Given the description of an element on the screen output the (x, y) to click on. 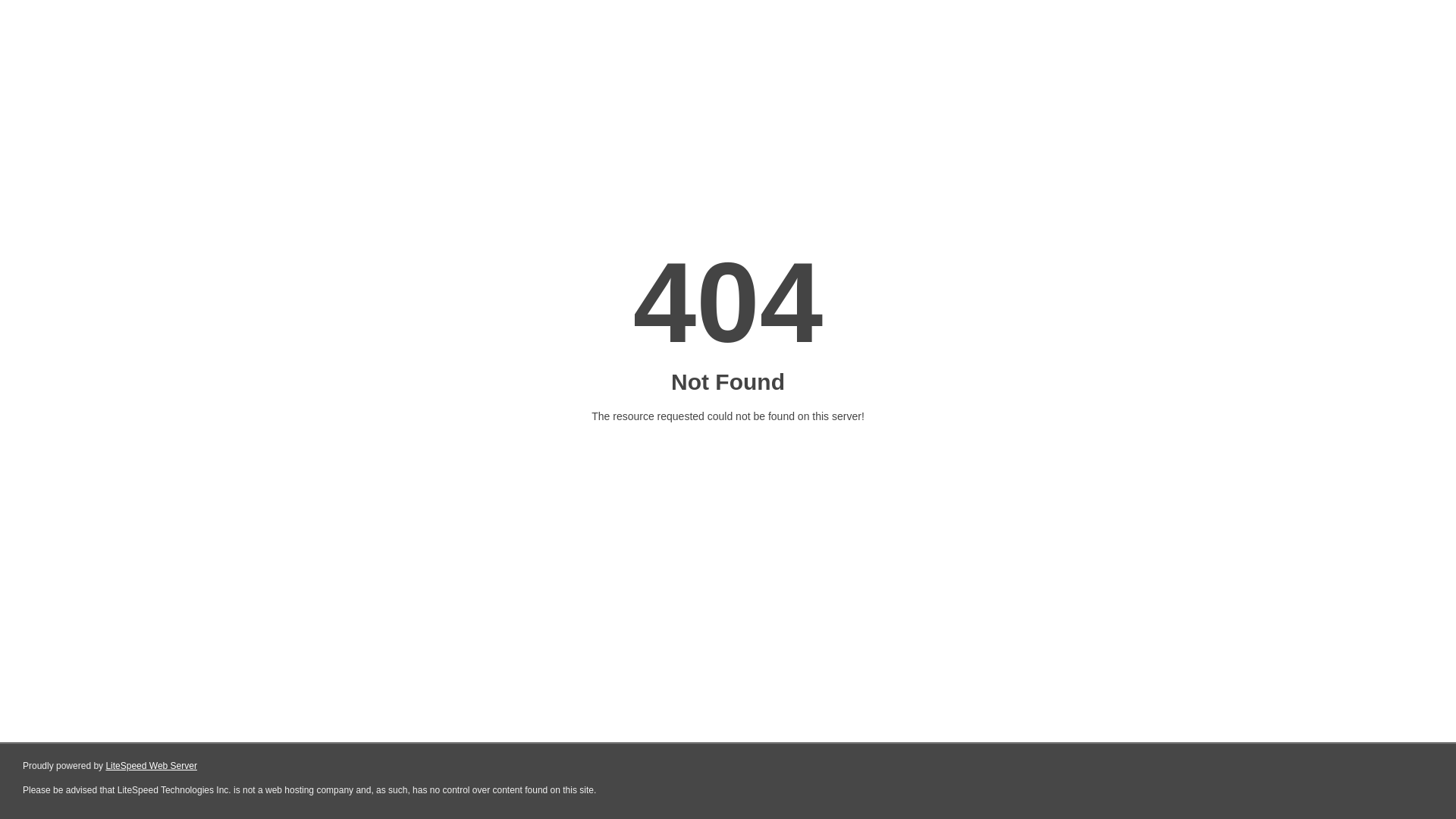
LiteSpeed Web Server Element type: text (151, 765)
